Given the description of an element on the screen output the (x, y) to click on. 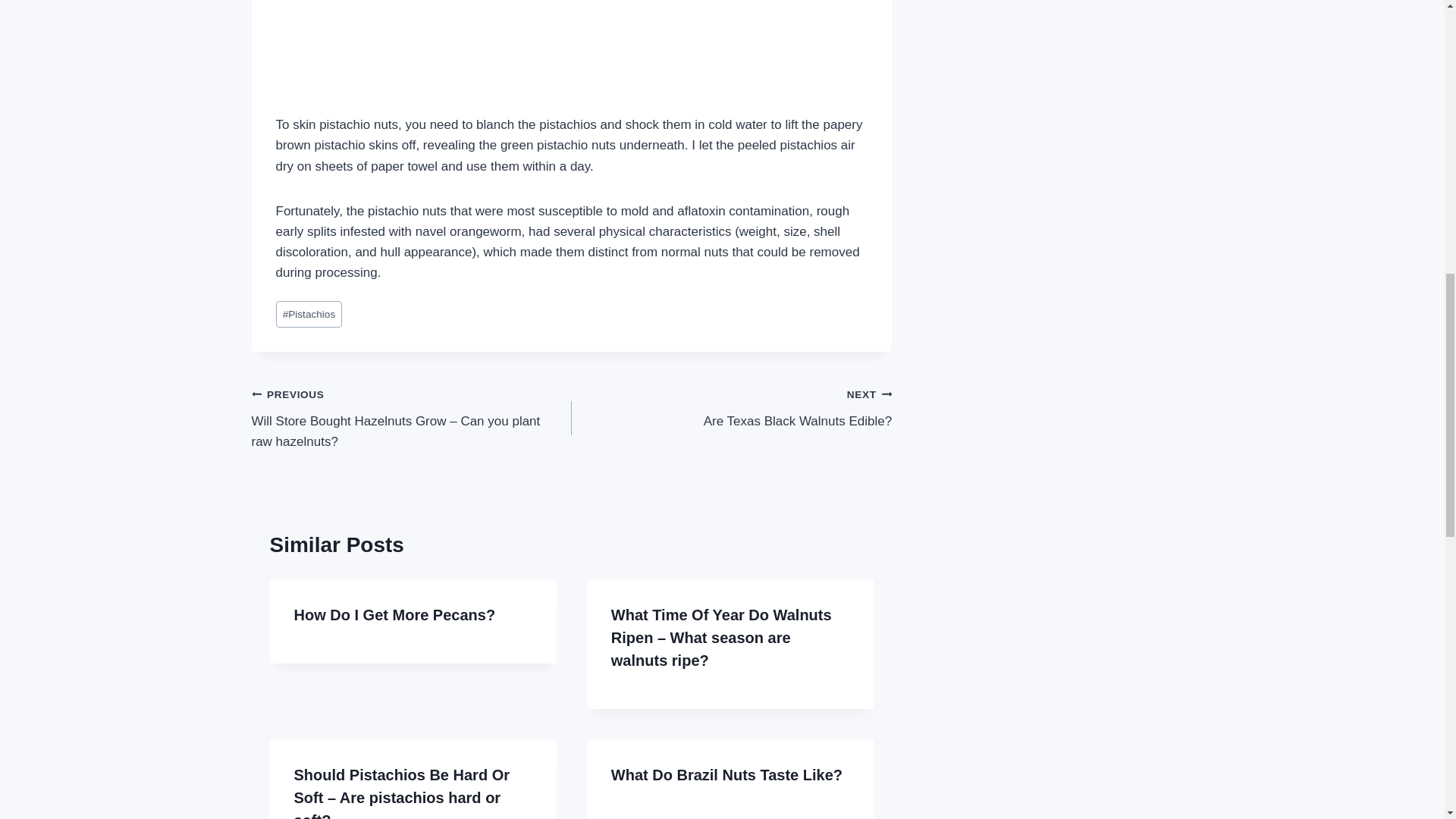
How Do I Get More Pecans? (395, 614)
Pistachios (731, 407)
